Given the description of an element on the screen output the (x, y) to click on. 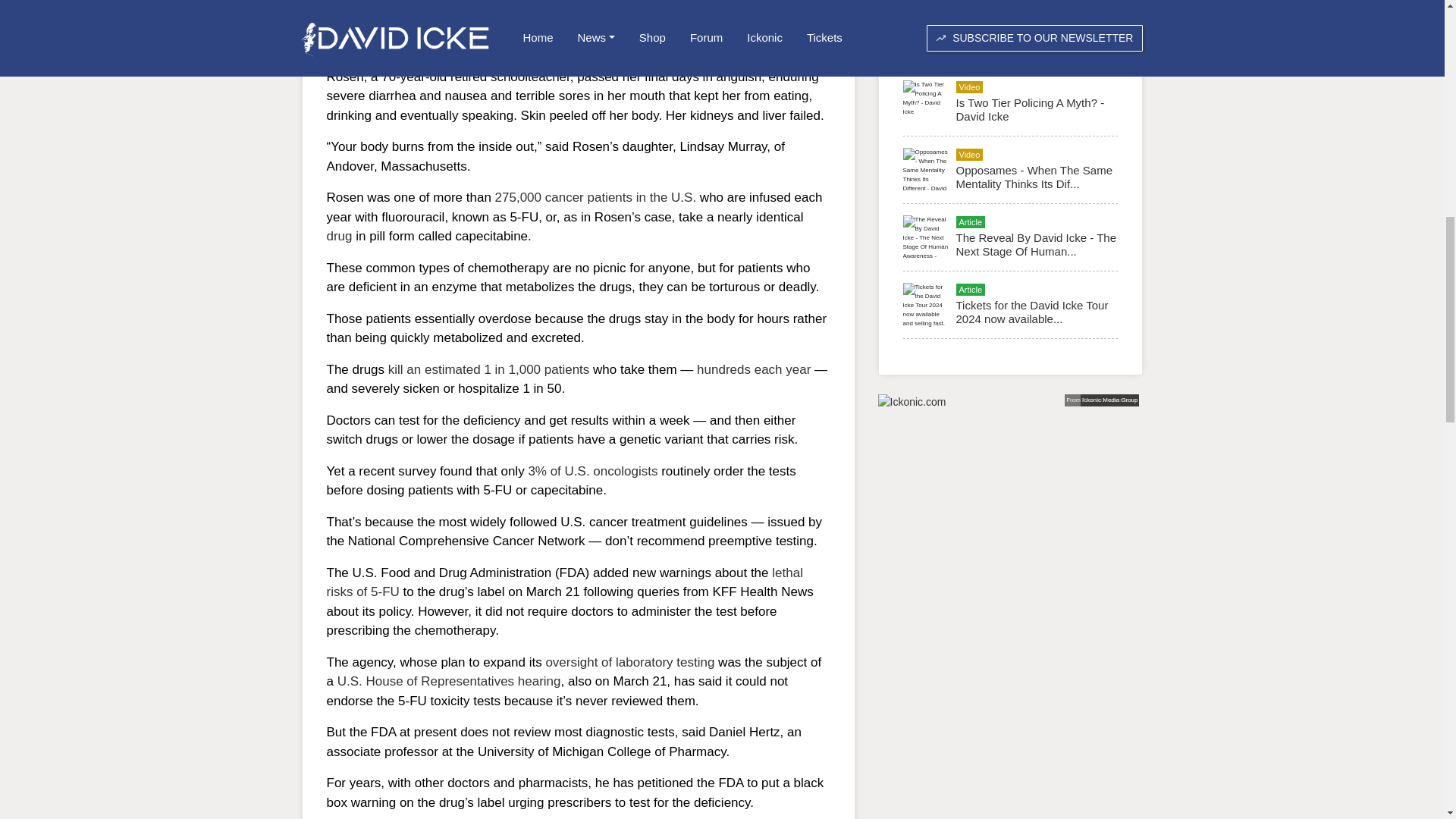
U.S. House of Representatives hearing (448, 681)
drug (339, 236)
lethal risks of 5-FU (564, 582)
275,000 cancer patients in the U.S. (596, 197)
oversight of laboratory testing (629, 662)
kill an estimated 1 in 1,000 patients (488, 369)
Is Two Tier Policing A Myth? - David Icke (1029, 109)
hundreds each year (753, 369)
